Given the description of an element on the screen output the (x, y) to click on. 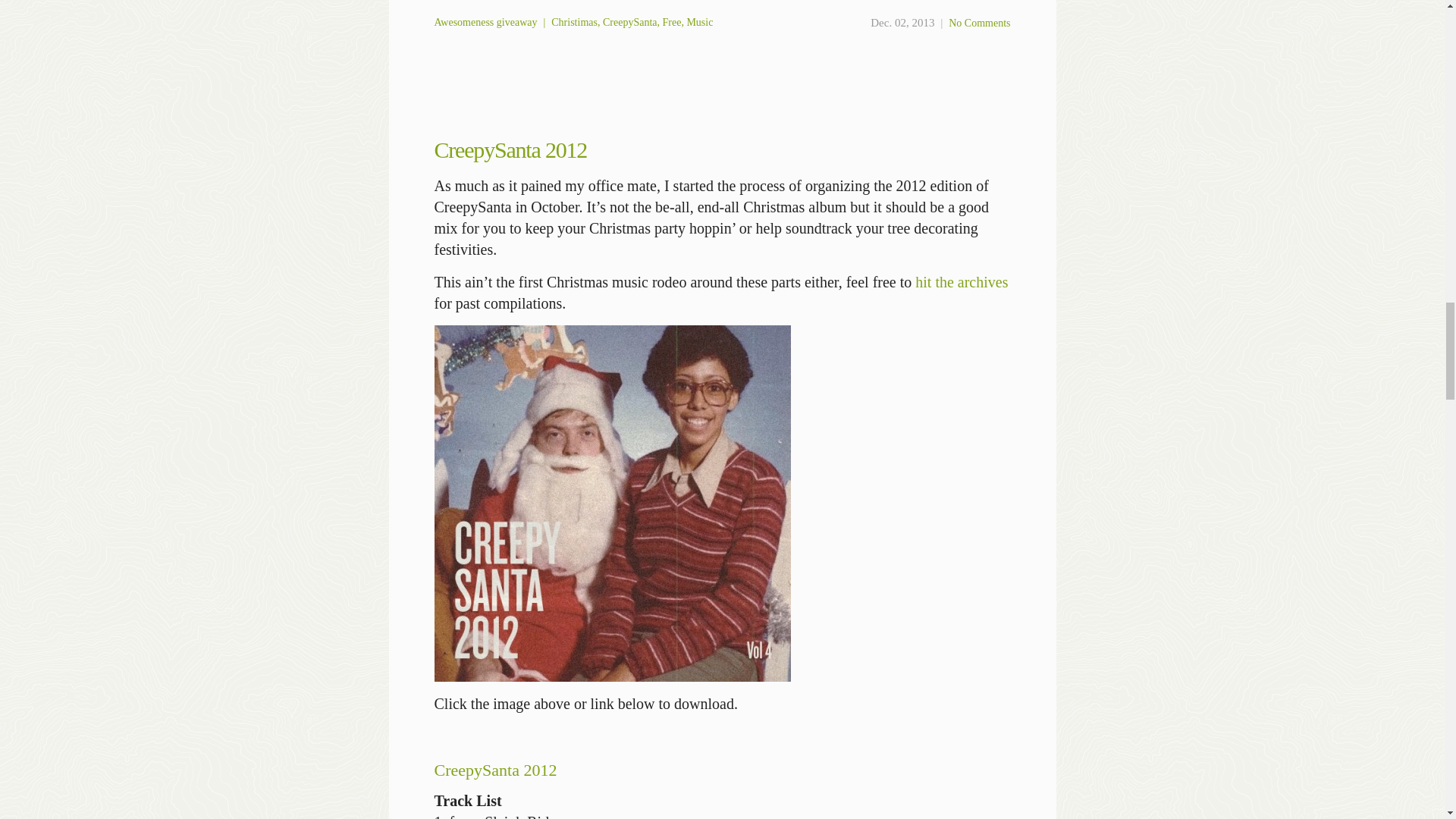
Music (699, 21)
No Comments (979, 22)
CreepySanta 2012 (509, 149)
CreepySanta 2012 - A decent Christmas playlist for 2012 (611, 503)
giveaway (516, 21)
Christimas (573, 21)
CreepySanta 2012 (494, 769)
Free (671, 21)
Awesomeness (463, 21)
CreepySanta (630, 21)
hit the archives (961, 281)
